Given the description of an element on the screen output the (x, y) to click on. 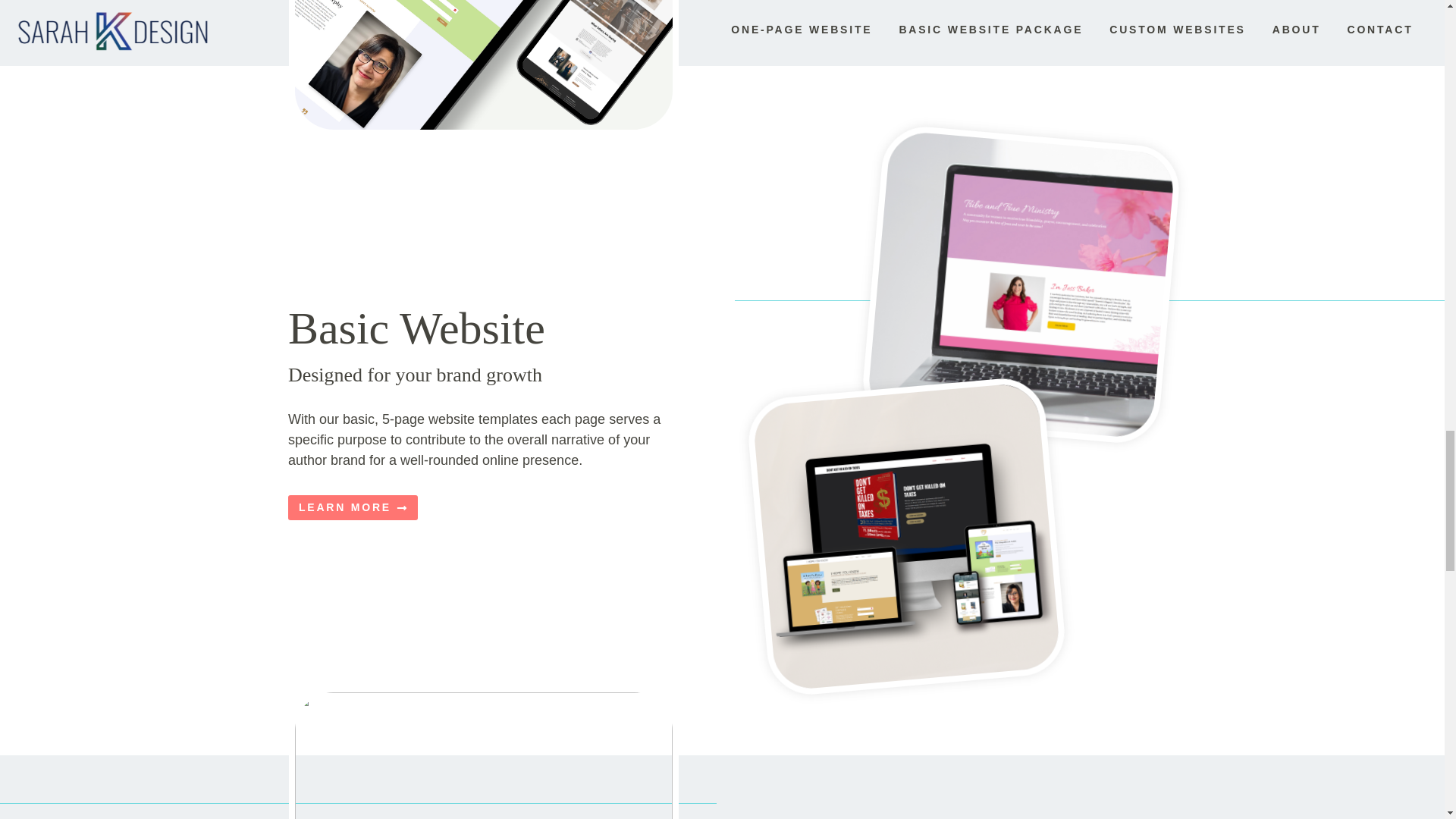
Basic Website (416, 327)
LEARN MORE (352, 507)
